Given the description of an element on the screen output the (x, y) to click on. 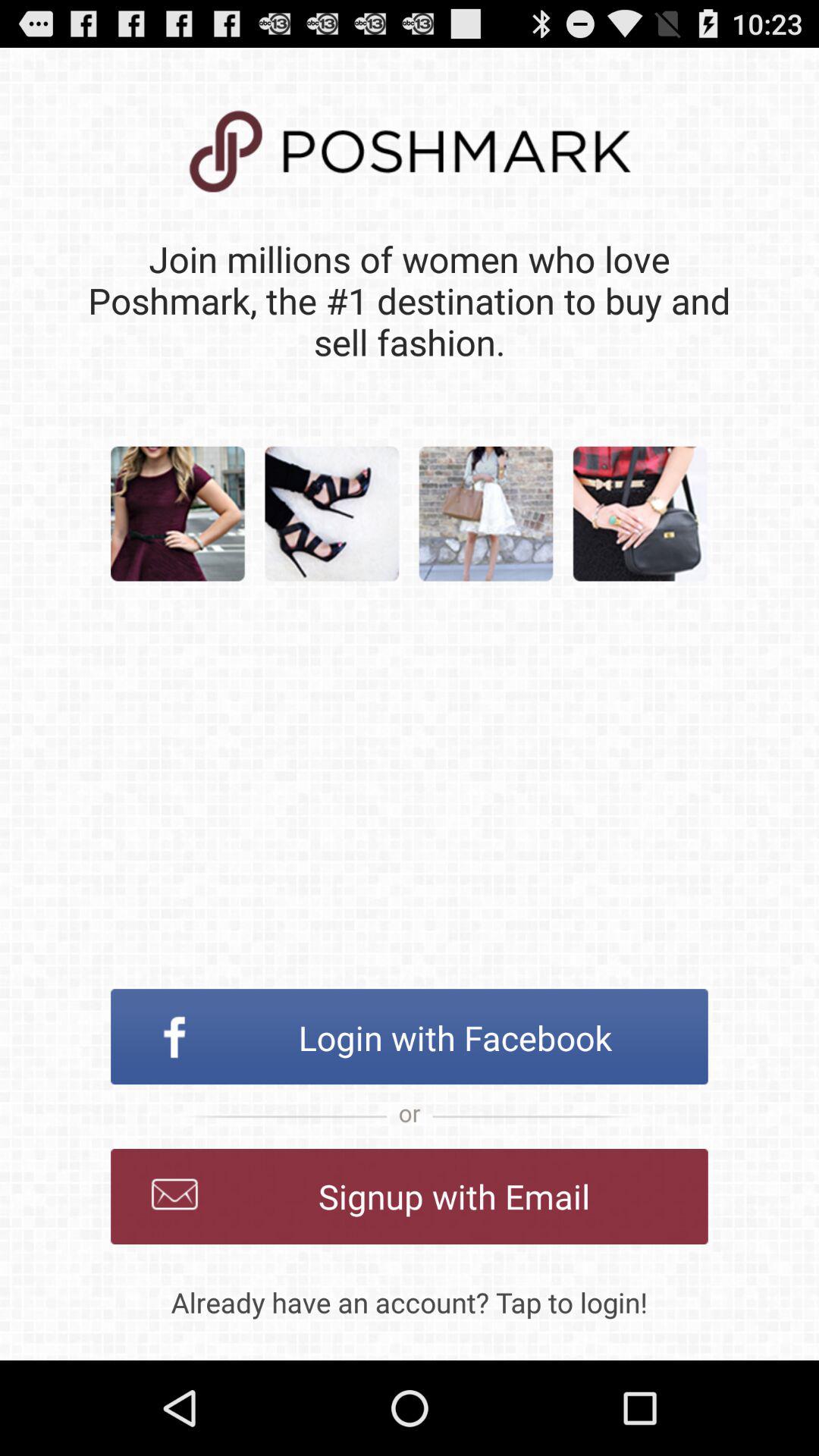
scroll until signup with email icon (409, 1196)
